Given the description of an element on the screen output the (x, y) to click on. 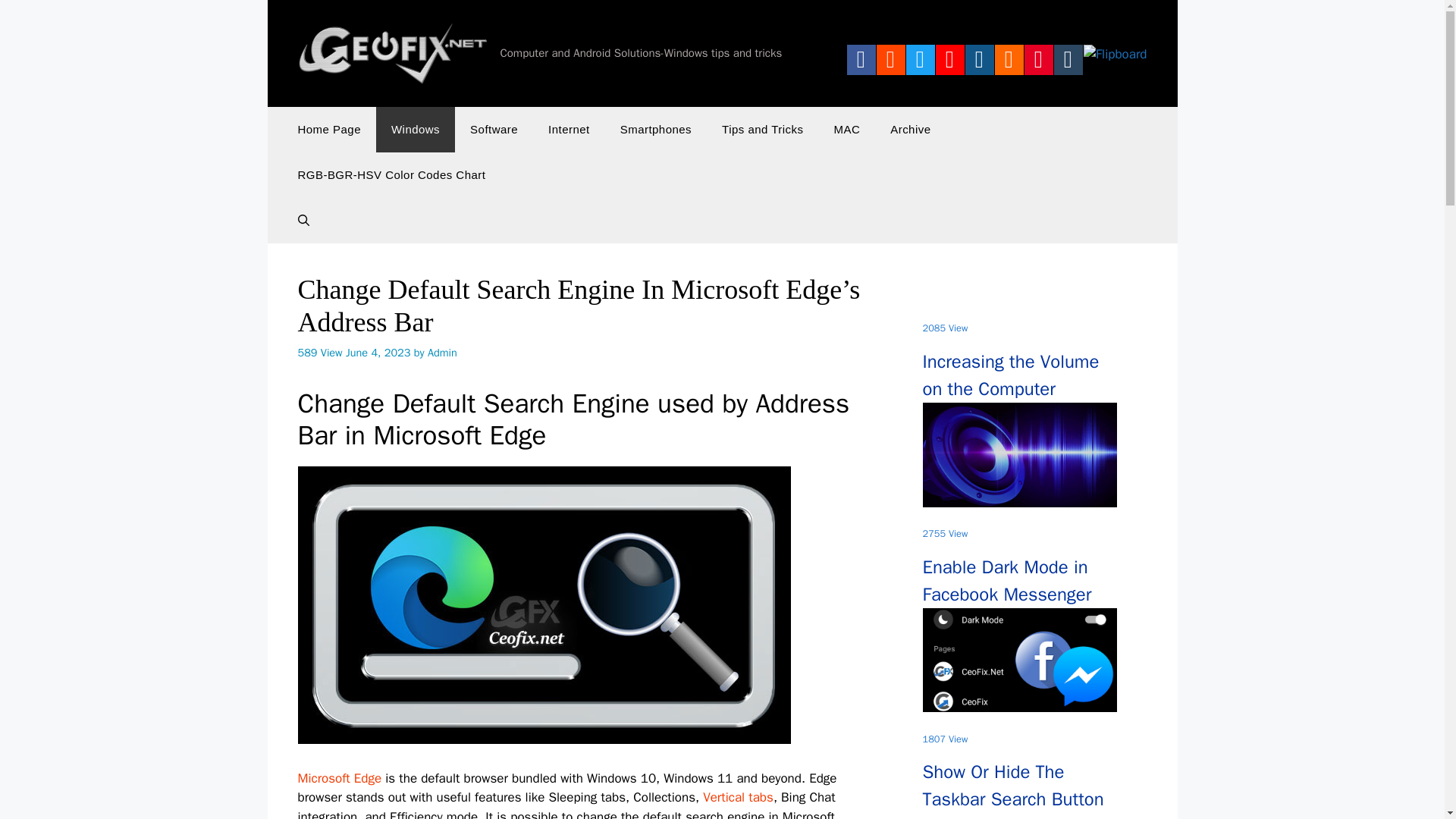
MAC (846, 129)
Instagram (979, 63)
Pinterest (1039, 63)
rss (1009, 63)
Windows (414, 129)
Internet (568, 129)
RGB-BGR-HSV Color Codes Chart (391, 175)
Home Page (328, 129)
Twitter (920, 63)
Smartphones (655, 129)
Archive (909, 129)
Facebook (861, 63)
Software (493, 129)
Tumblr (1068, 63)
